Given the description of an element on the screen output the (x, y) to click on. 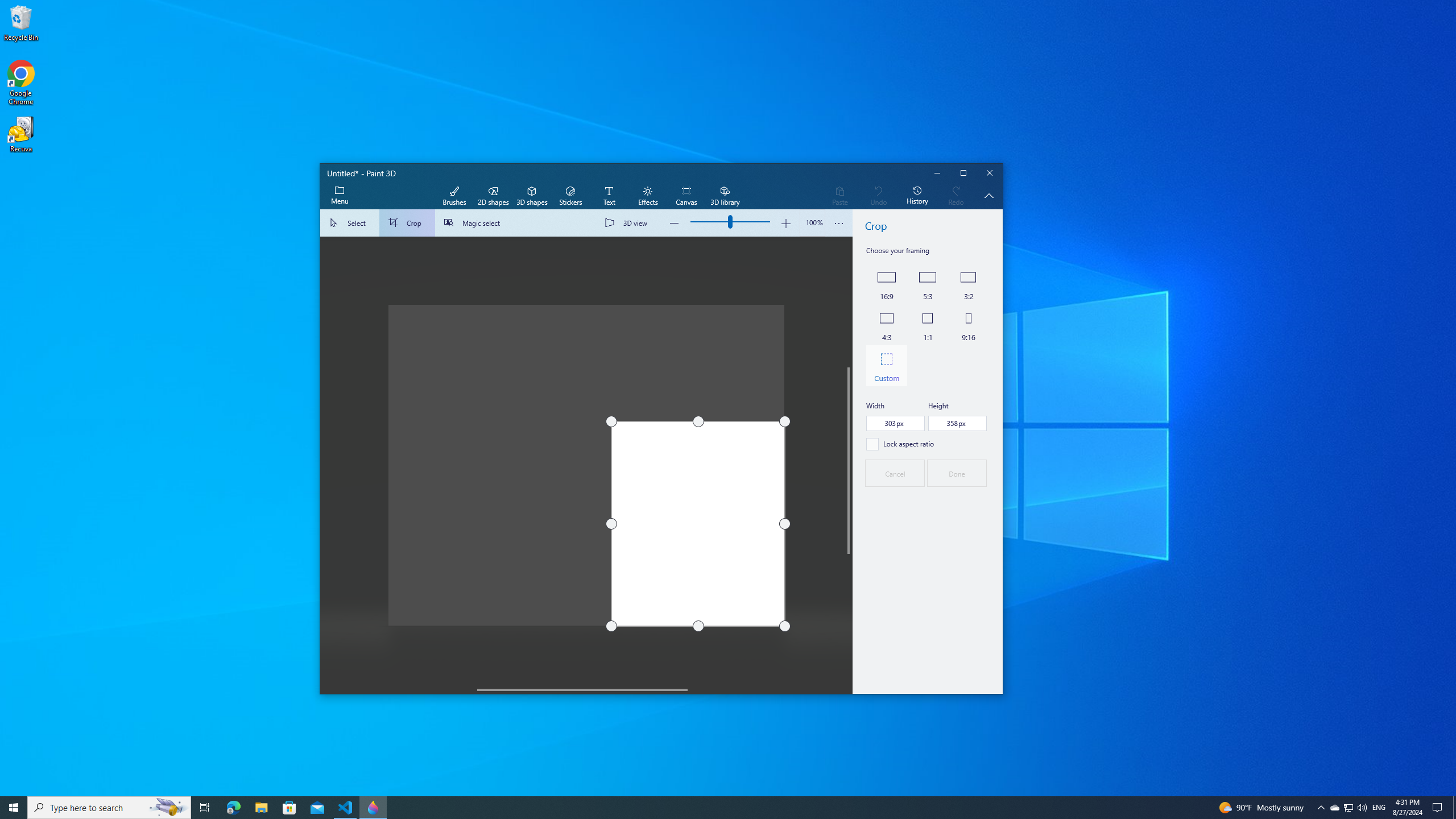
5 by 3 (927, 283)
Hide description (989, 195)
Magic select (474, 222)
Vertical (848, 460)
Paint 3D - 1 running window (373, 807)
Vertical Large Increase (848, 619)
Custom (886, 365)
Redo (955, 195)
3D shapes (531, 195)
